Given the description of an element on the screen output the (x, y) to click on. 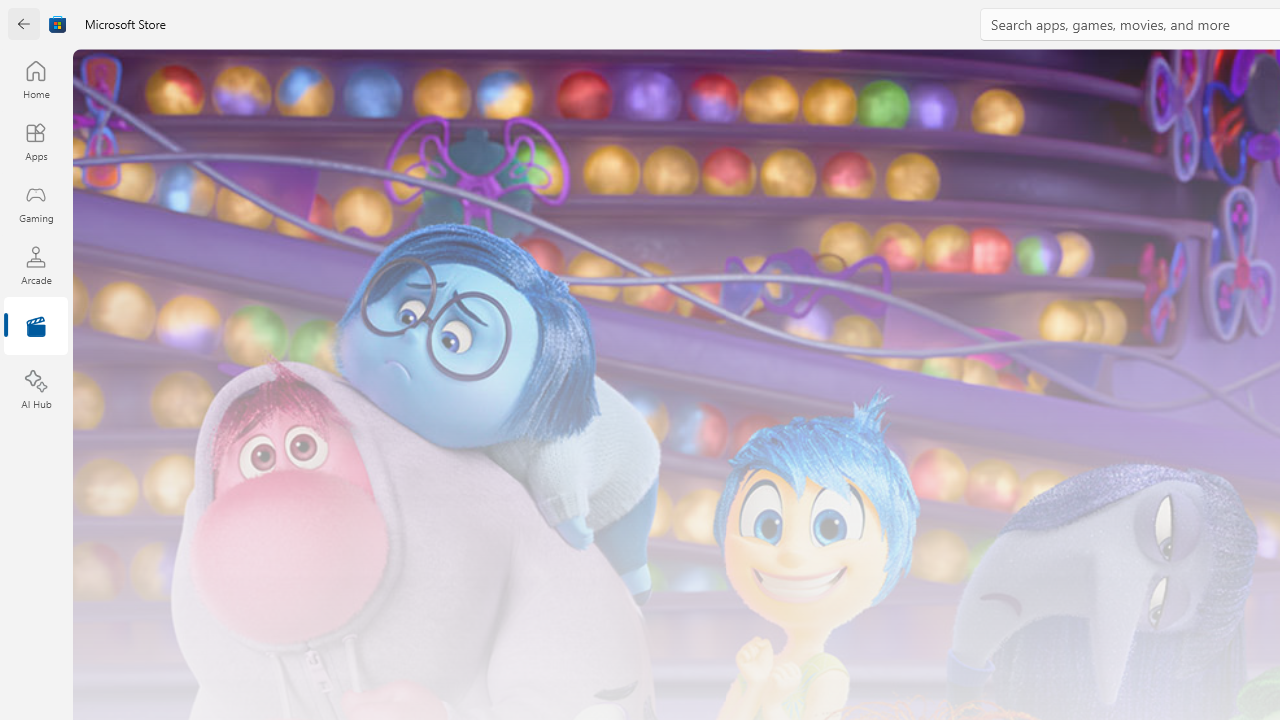
Back (24, 24)
